Given the description of an element on the screen output the (x, y) to click on. 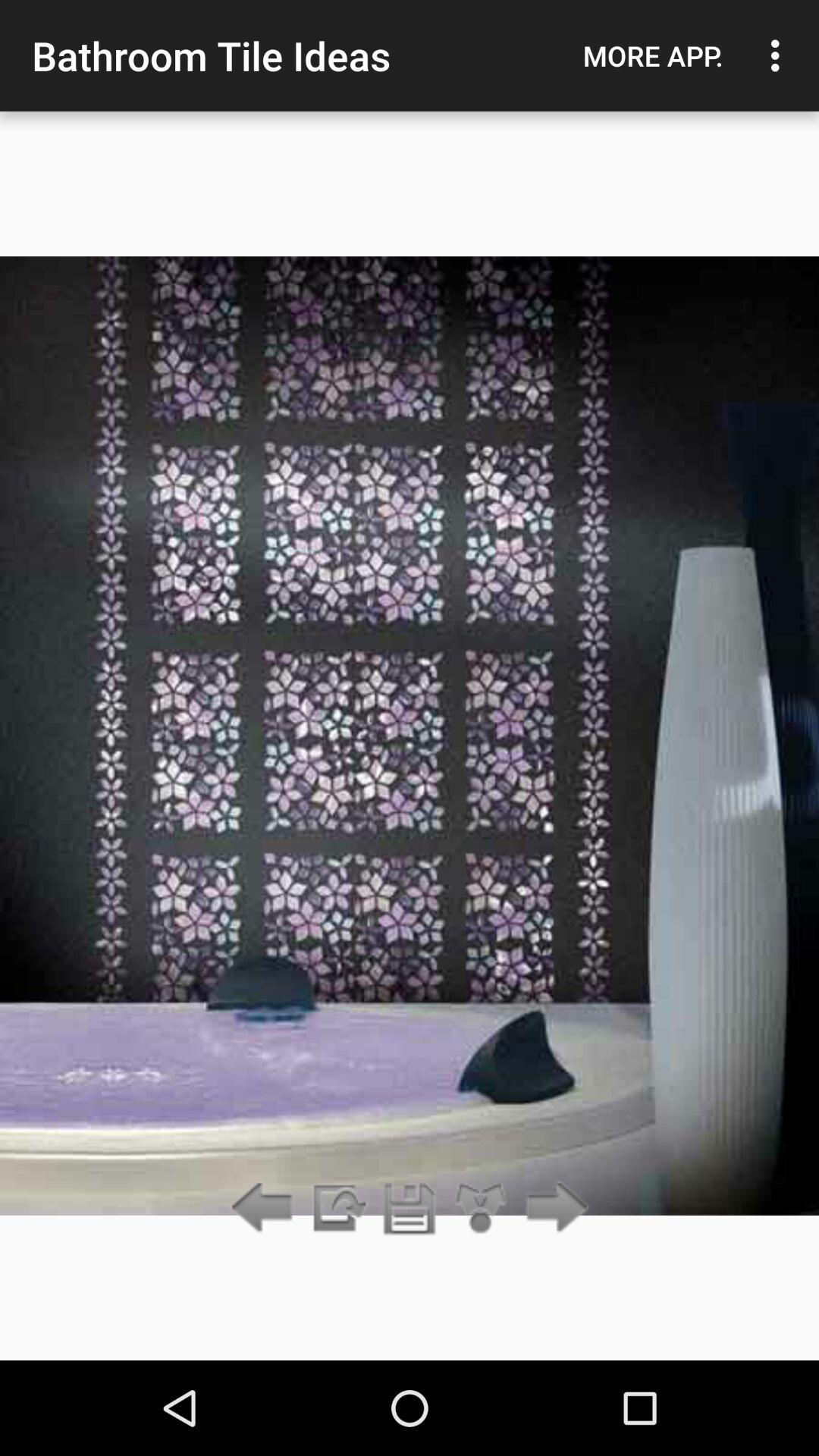
go forward (552, 1209)
